Given the description of an element on the screen output the (x, y) to click on. 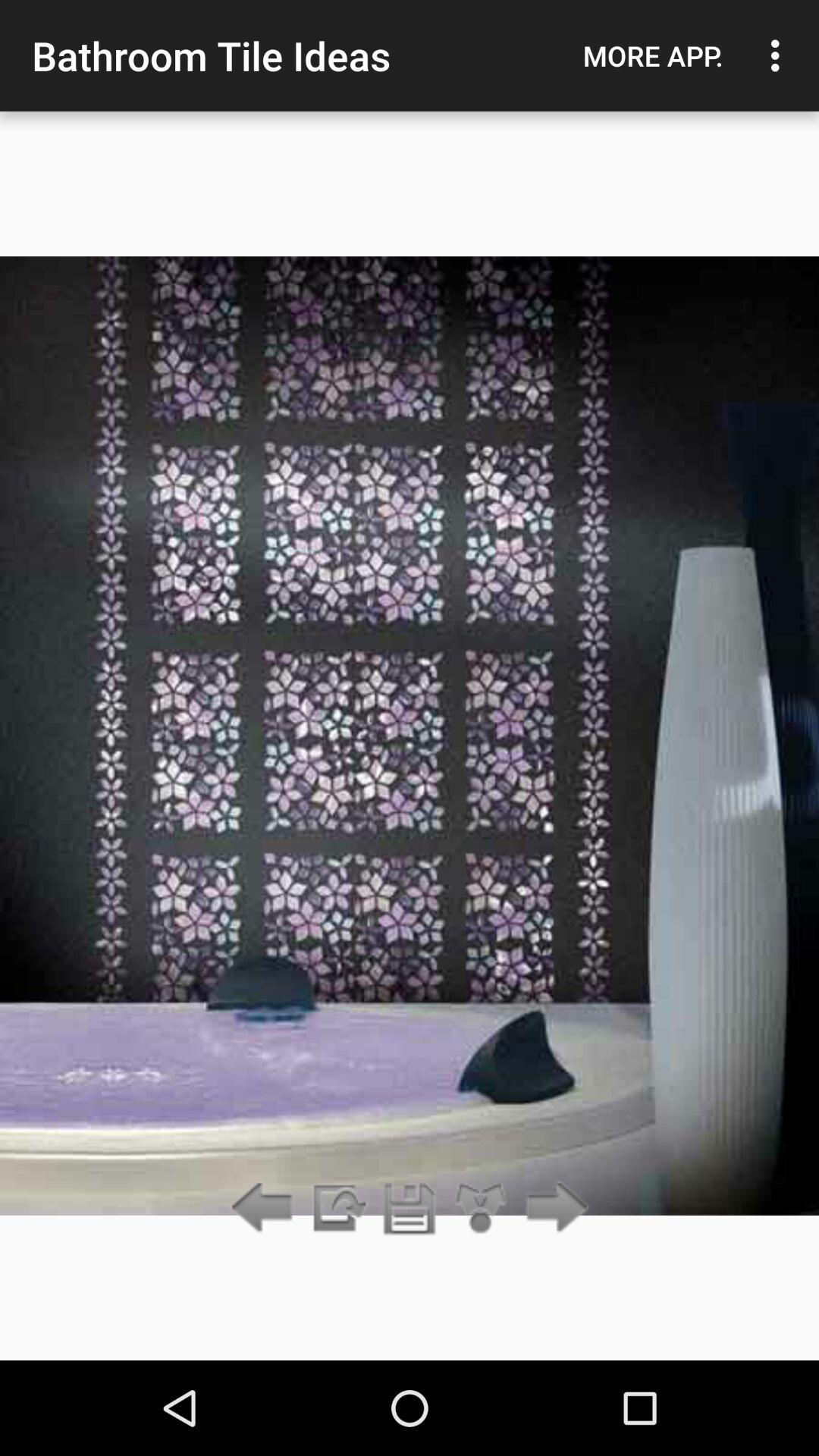
go forward (552, 1209)
